Given the description of an element on the screen output the (x, y) to click on. 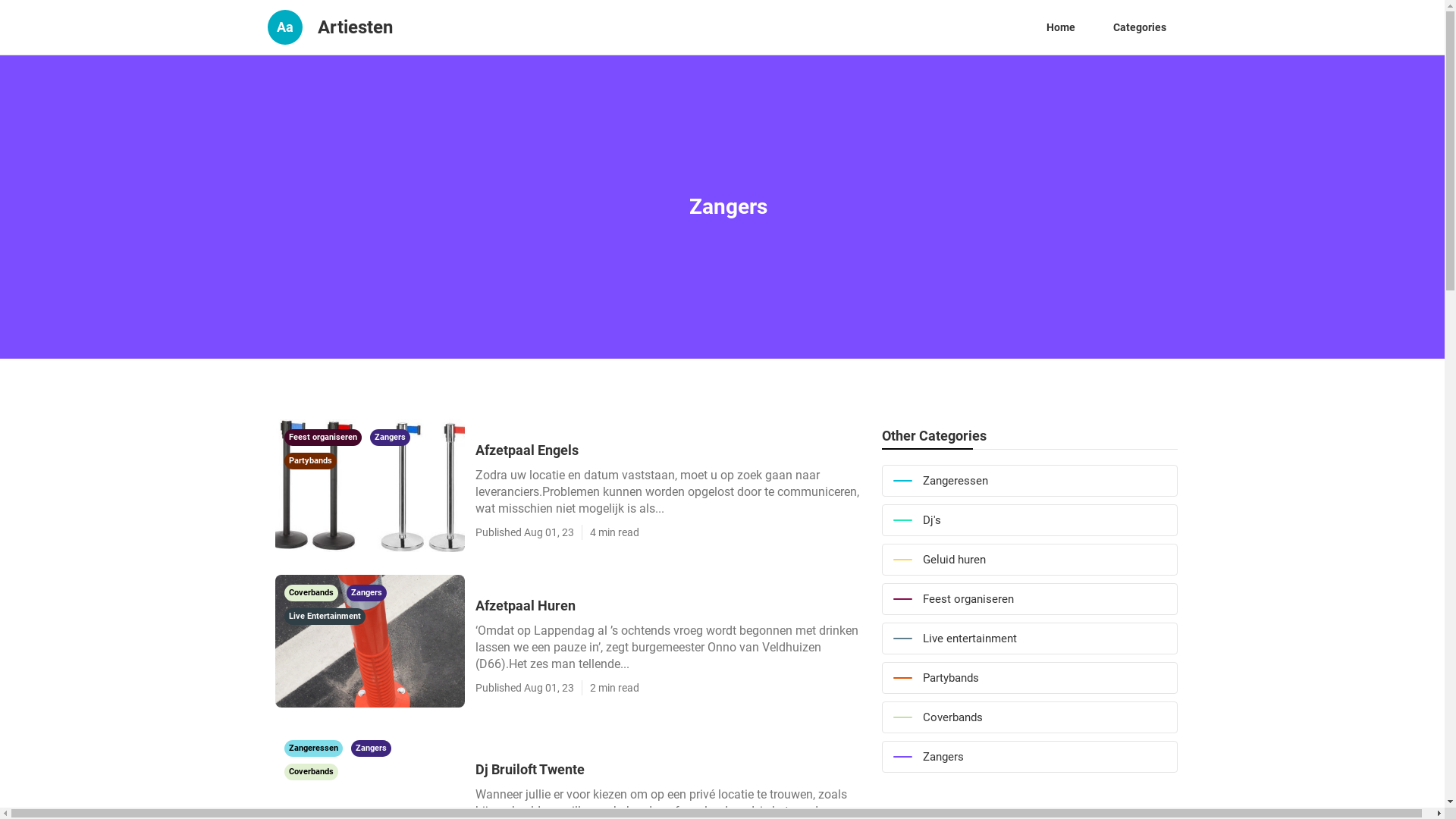
Afzetpaal Huren Element type: text (670, 605)
Live entertainment Element type: text (1028, 638)
Partybands Element type: text (1028, 677)
Coverbands Element type: text (1028, 717)
Afzetpaal Engels Element type: text (670, 450)
Home Element type: text (1059, 26)
Feest organiseren Element type: text (323, 435)
Live Entertainment Element type: text (323, 614)
Zangers Element type: text (1028, 756)
Zangers Element type: text (365, 591)
Dj Bruiloft Twente Element type: text (670, 768)
Partybands Element type: text (309, 459)
Categories Element type: text (1138, 26)
Geluid huren Element type: text (1028, 559)
Zangers Element type: text (390, 435)
Coverbands Element type: text (311, 591)
Zangers Element type: text (370, 746)
Dj's Element type: text (1028, 520)
Zangeressen Element type: text (313, 746)
Zangeressen Element type: text (1028, 480)
Feest organiseren Element type: text (1028, 599)
Coverbands Element type: text (310, 770)
